Given the description of an element on the screen output the (x, y) to click on. 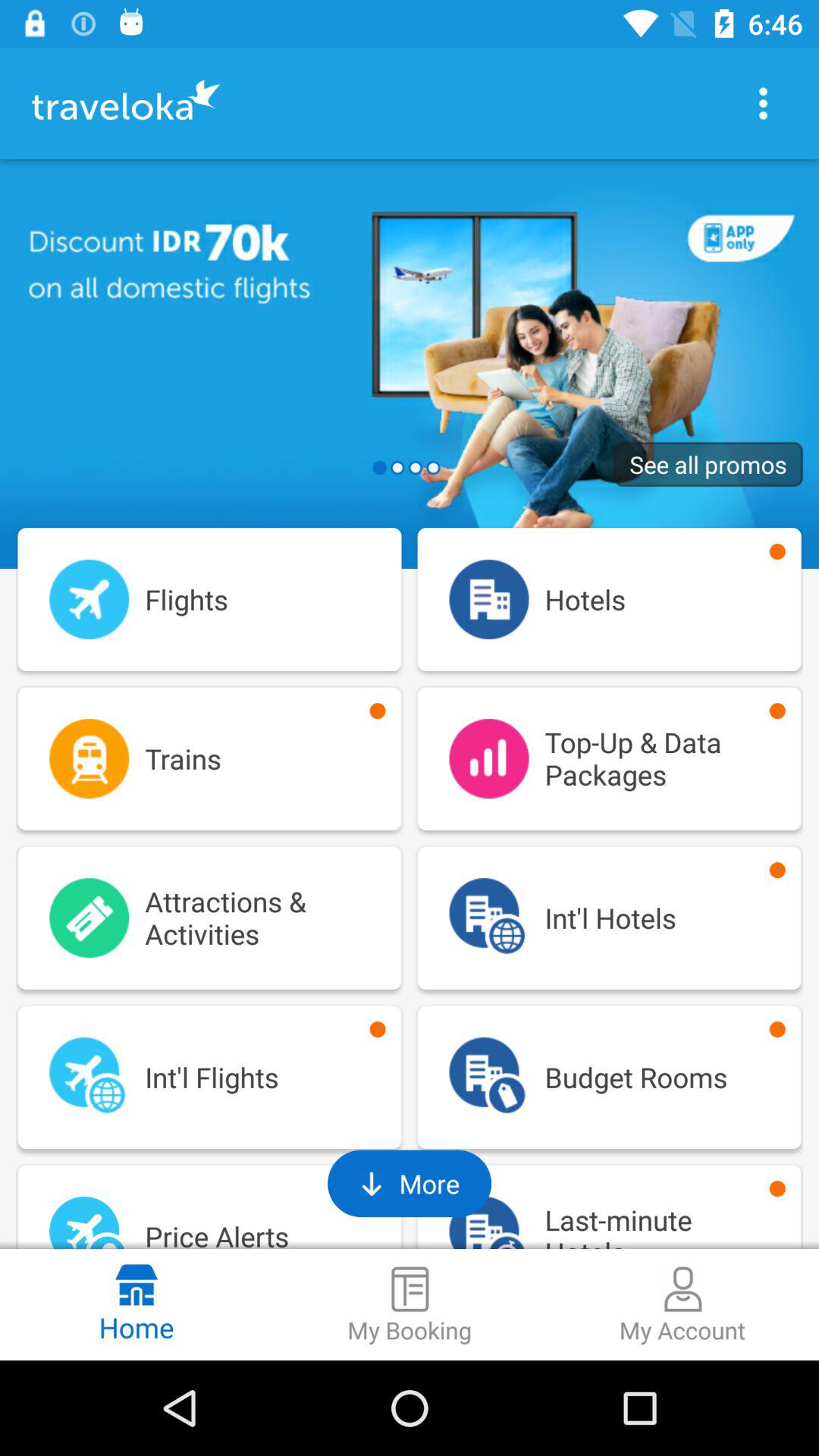
page menu (763, 103)
